Given the description of an element on the screen output the (x, y) to click on. 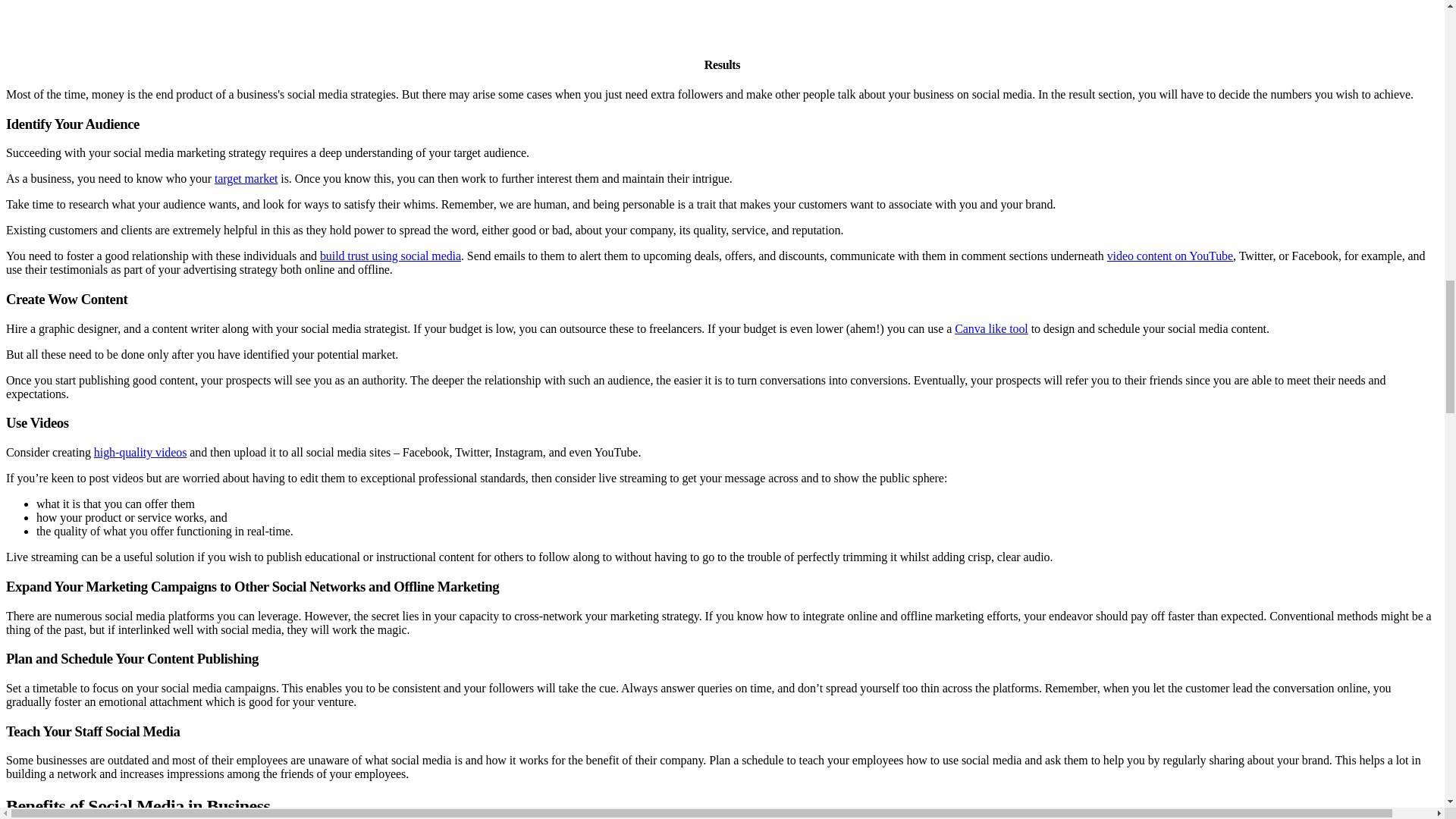
high-quality videos (140, 451)
target market (246, 178)
build trust using social media (390, 255)
video content on YouTube (1169, 255)
Canva like tool (991, 328)
